Given the description of an element on the screen output the (x, y) to click on. 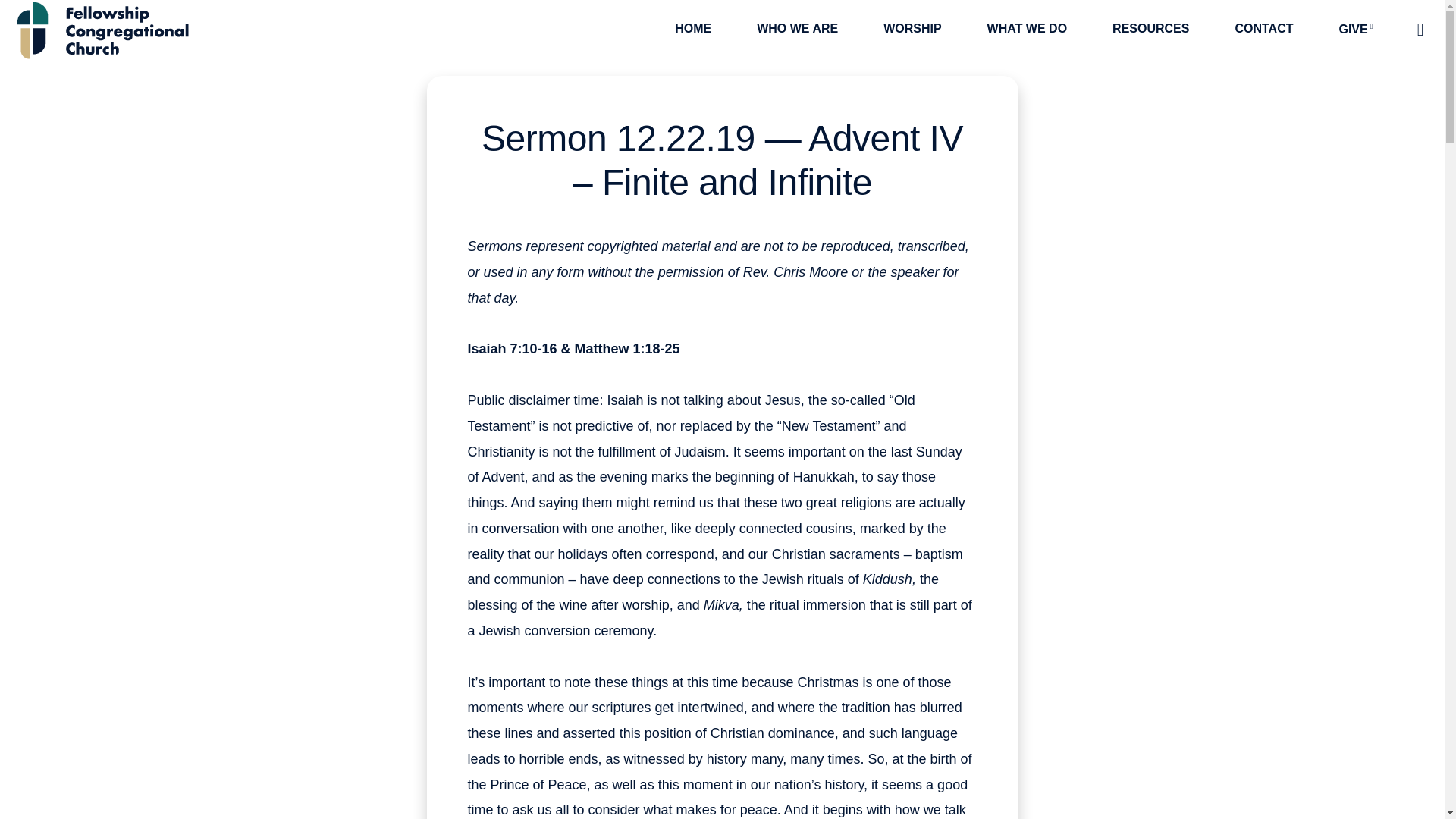
RESOURCES (1150, 28)
Sign up (1063, 751)
HOME (692, 28)
GIVE (1355, 29)
WHO WE ARE (796, 28)
WHAT WE DO (1026, 28)
Sign up (1063, 751)
WORSHIP (911, 28)
CONTACT (1263, 28)
